Given the description of an element on the screen output the (x, y) to click on. 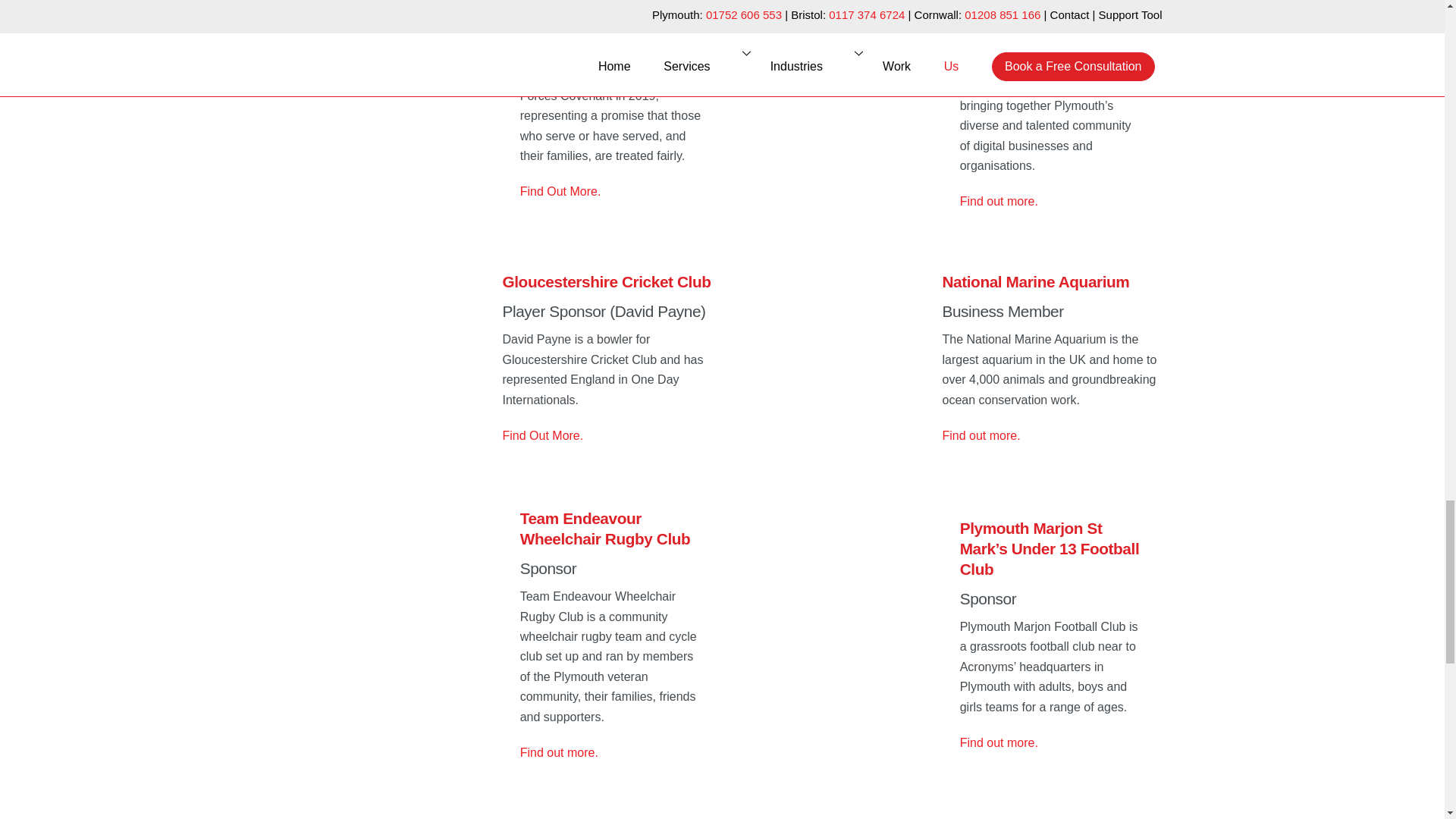
About (831, 367)
About (392, 112)
About (832, 644)
Find out more. (998, 201)
Find Out More. (542, 435)
About (391, 367)
About (392, 644)
About (832, 112)
Find out more. (558, 752)
Find Out More. (560, 191)
Find out more. (981, 435)
